Given the description of an element on the screen output the (x, y) to click on. 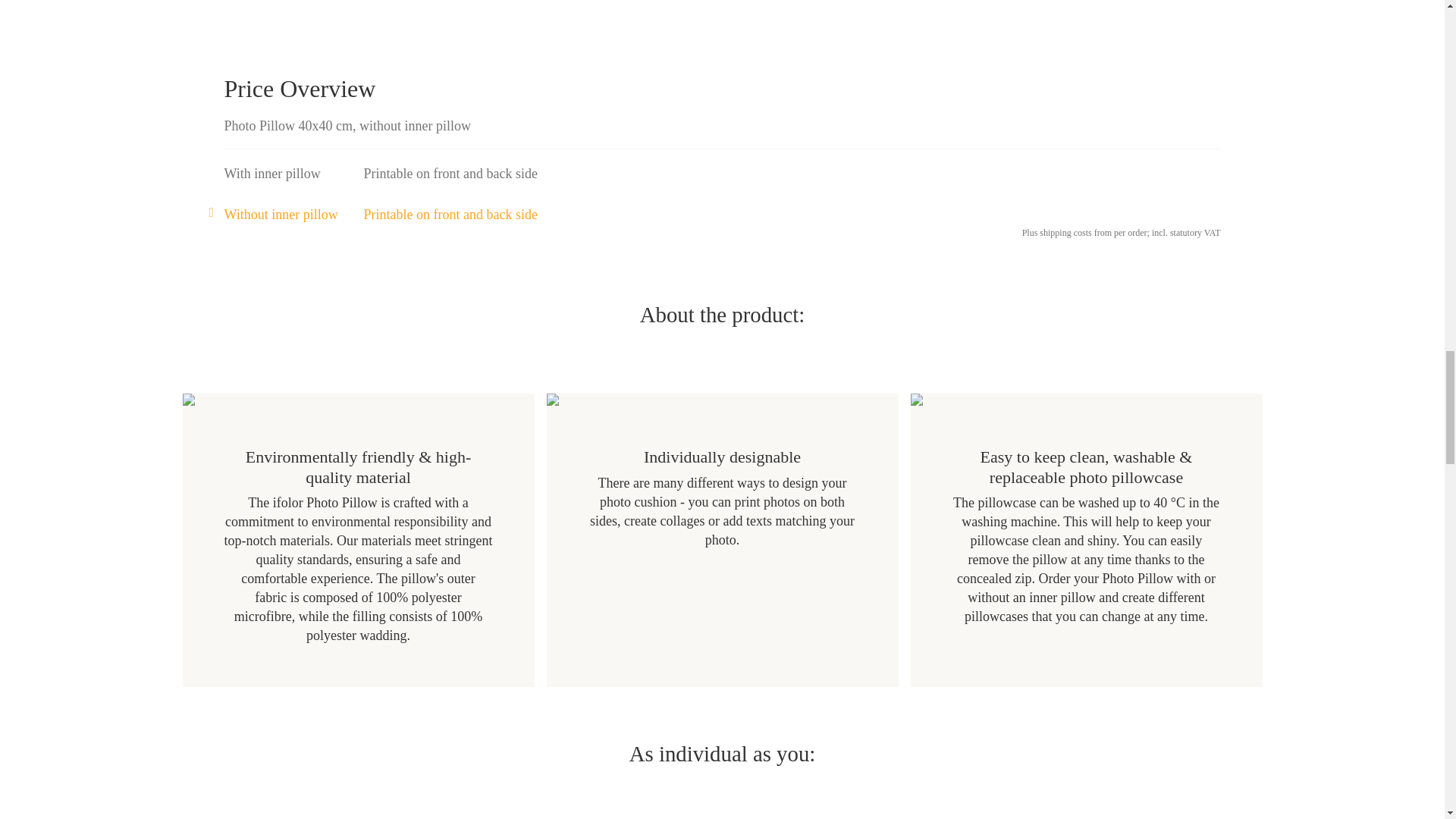
Individually designable (722, 399)
Extra easy to clean (1086, 399)
